Given the description of an element on the screen output the (x, y) to click on. 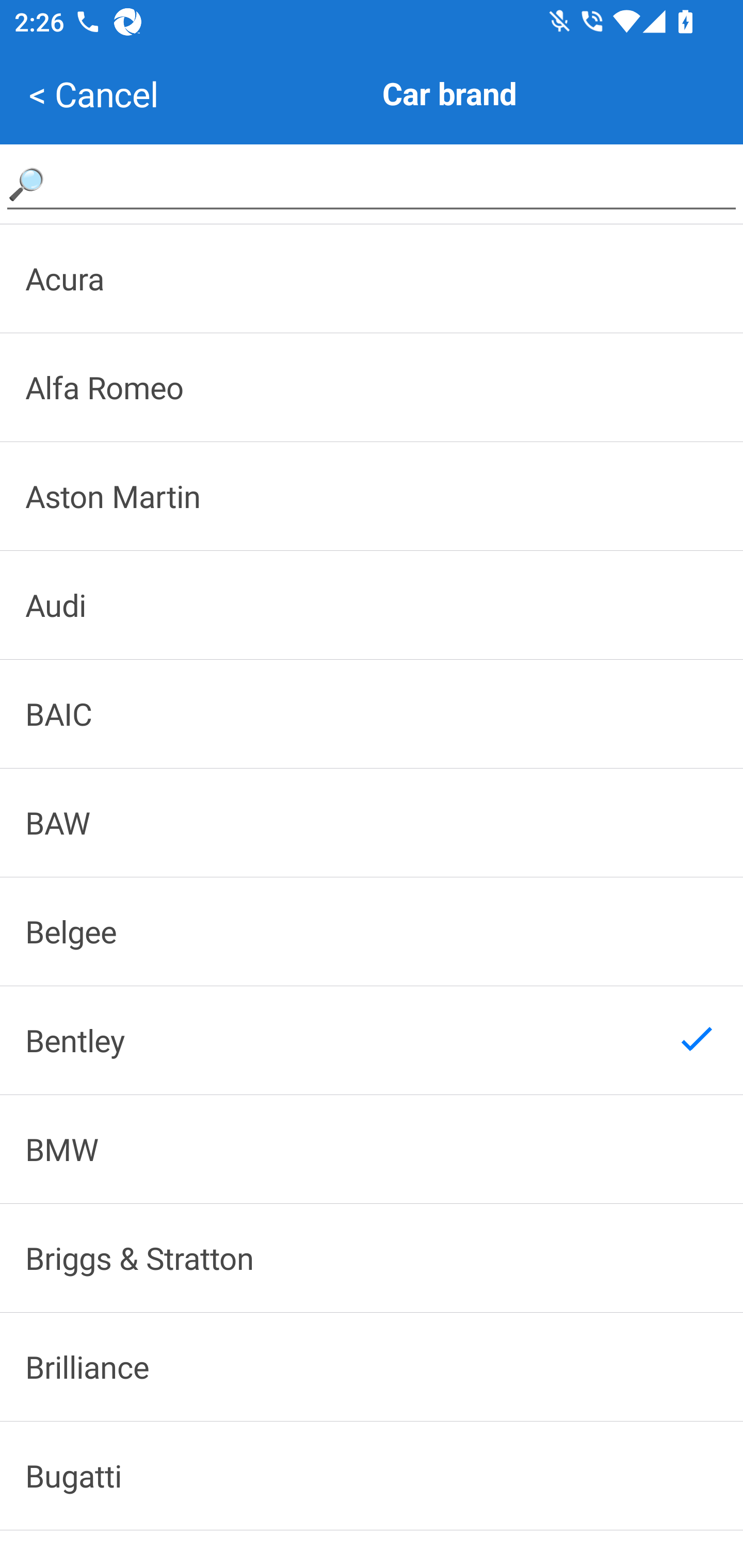
< Cancel (93, 93)
🔎 (371, 183)
Acura (371, 278)
Alfa Romeo (371, 387)
Aston Martin (371, 496)
Audi (371, 604)
BAIC (371, 714)
BAW (371, 822)
Belgee (371, 932)
Bentley (371, 1040)
BMW (371, 1148)
Briggs & Stratton (371, 1258)
Brilliance (371, 1366)
Bugatti (371, 1476)
